Given the description of an element on the screen output the (x, y) to click on. 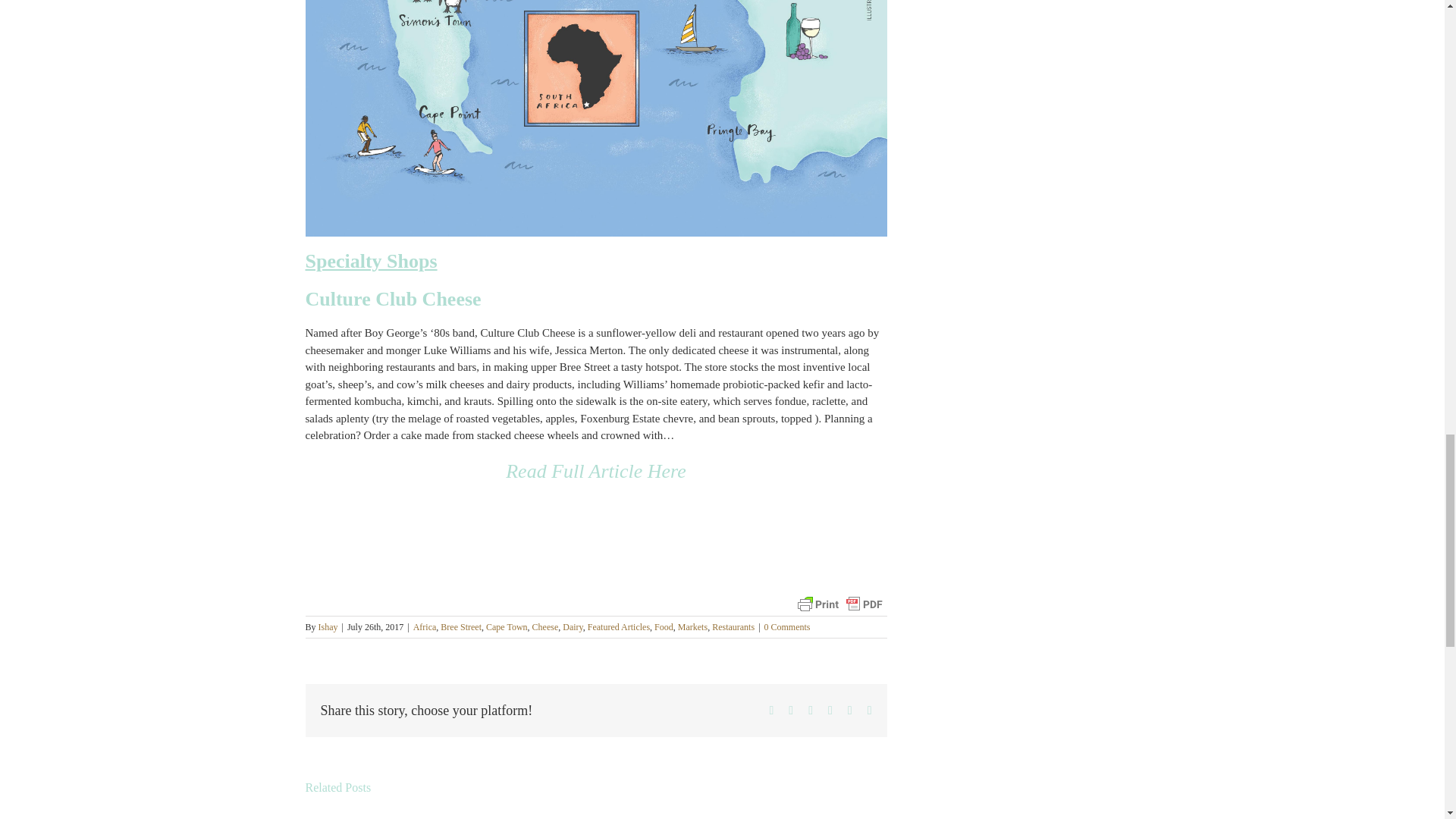
Posts by Ishay (327, 626)
